Given the description of an element on the screen output the (x, y) to click on. 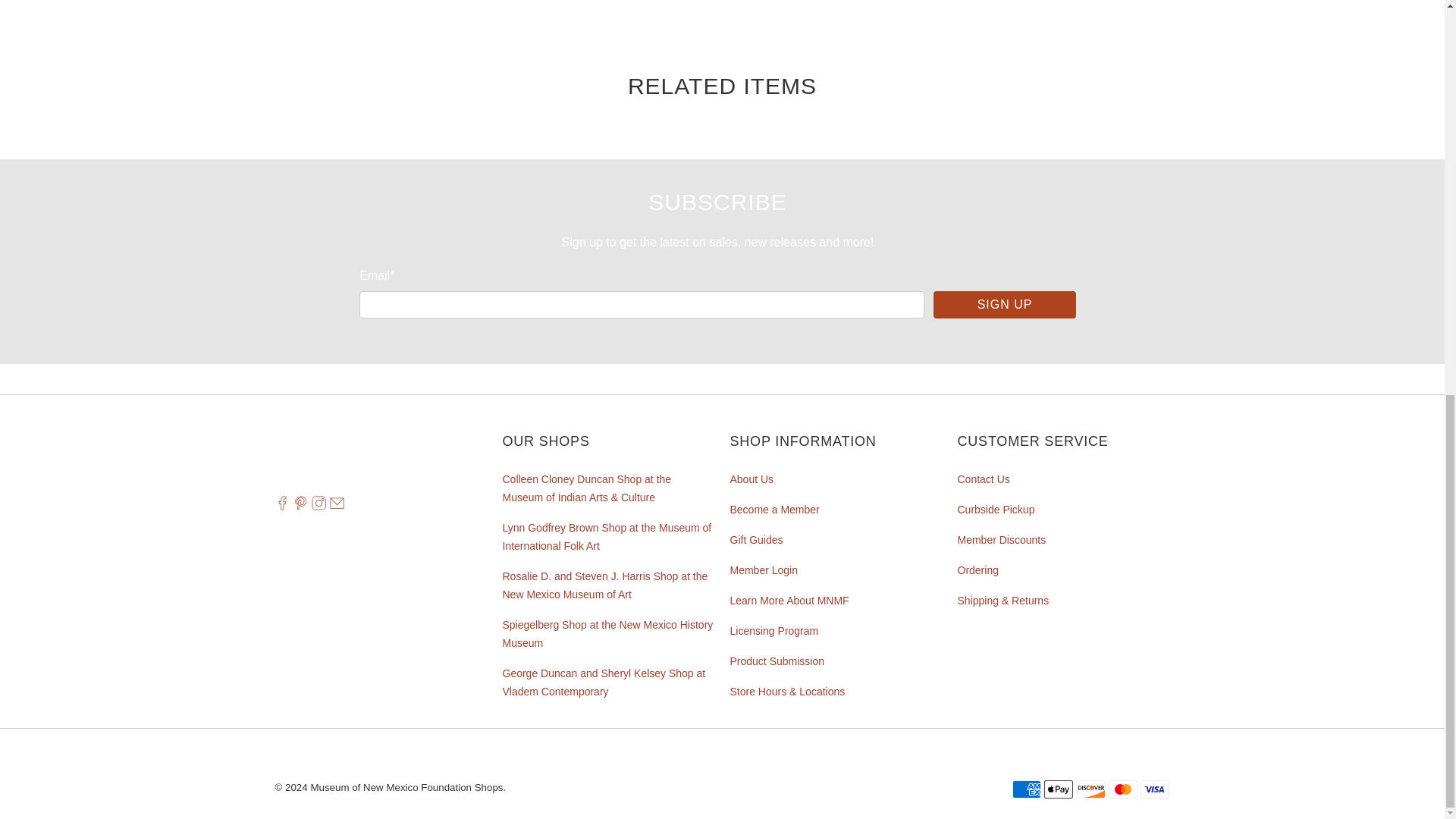
American Express (1026, 789)
Museum of New Mexico Foundation Shops (359, 455)
Apple Pay (1058, 789)
